Given the description of an element on the screen output the (x, y) to click on. 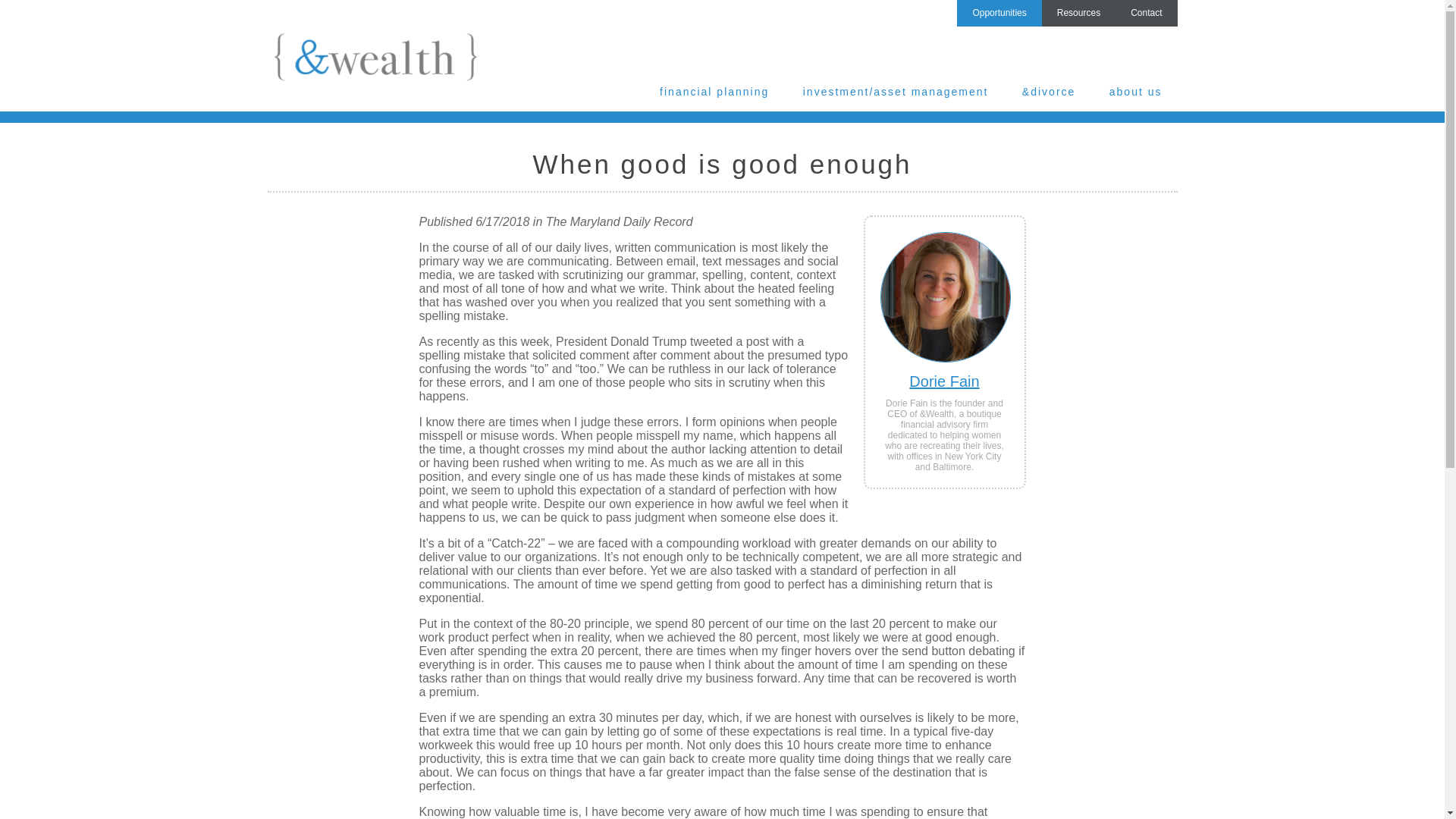
Opportunities (998, 13)
Contact (1145, 13)
Posts by Dorie Fain (943, 381)
about us (1135, 67)
Dorie Fain (943, 381)
Resources (1078, 13)
financial planning (714, 67)
